Given the description of an element on the screen output the (x, y) to click on. 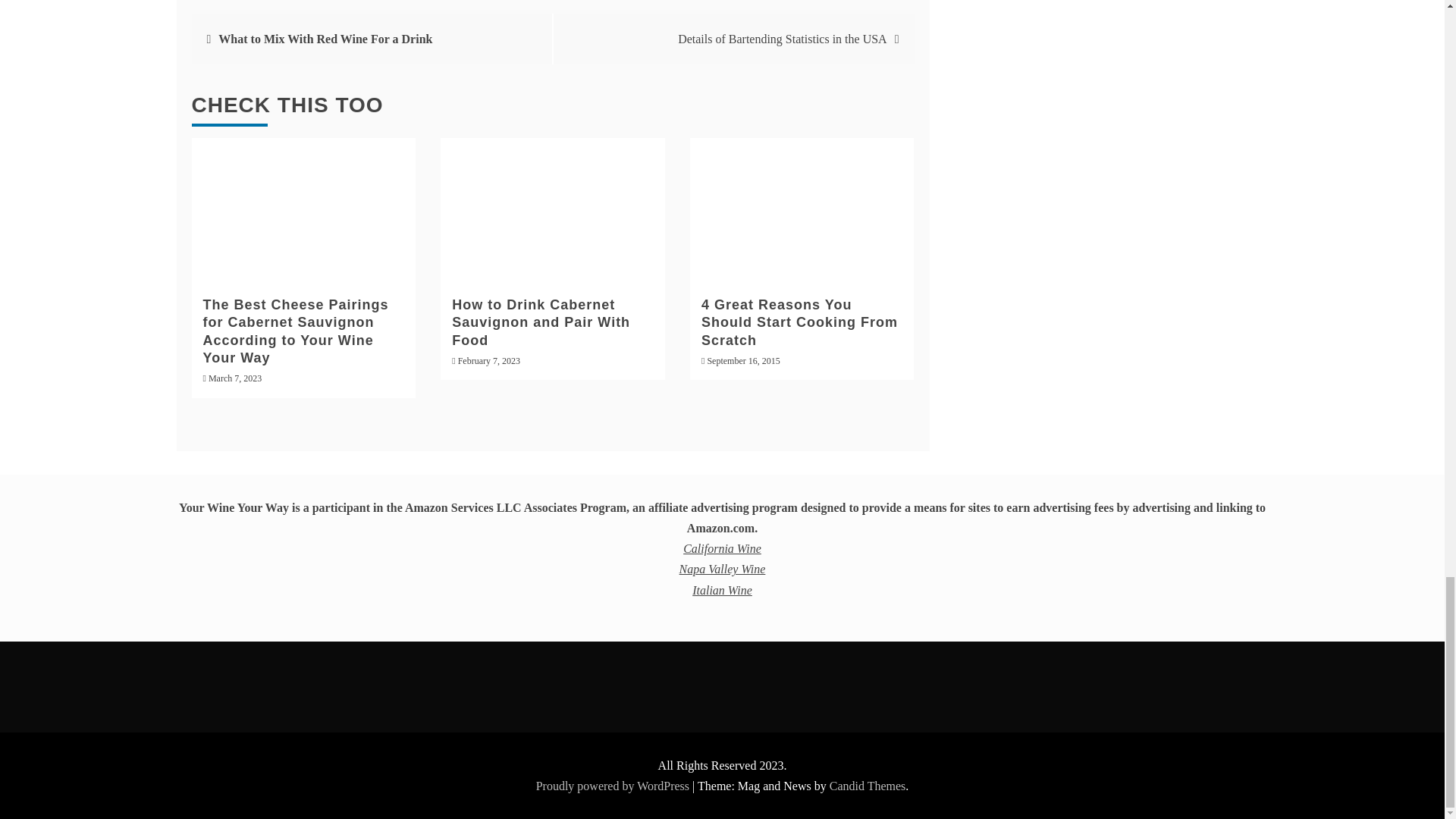
How to Drink Cabernet Sauvignon and Pair With Food (540, 322)
What to Mix With Red Wine For a Drink (325, 38)
Details of Bartending Statistics in the USA (782, 38)
March 7, 2023 (235, 378)
